Given the description of an element on the screen output the (x, y) to click on. 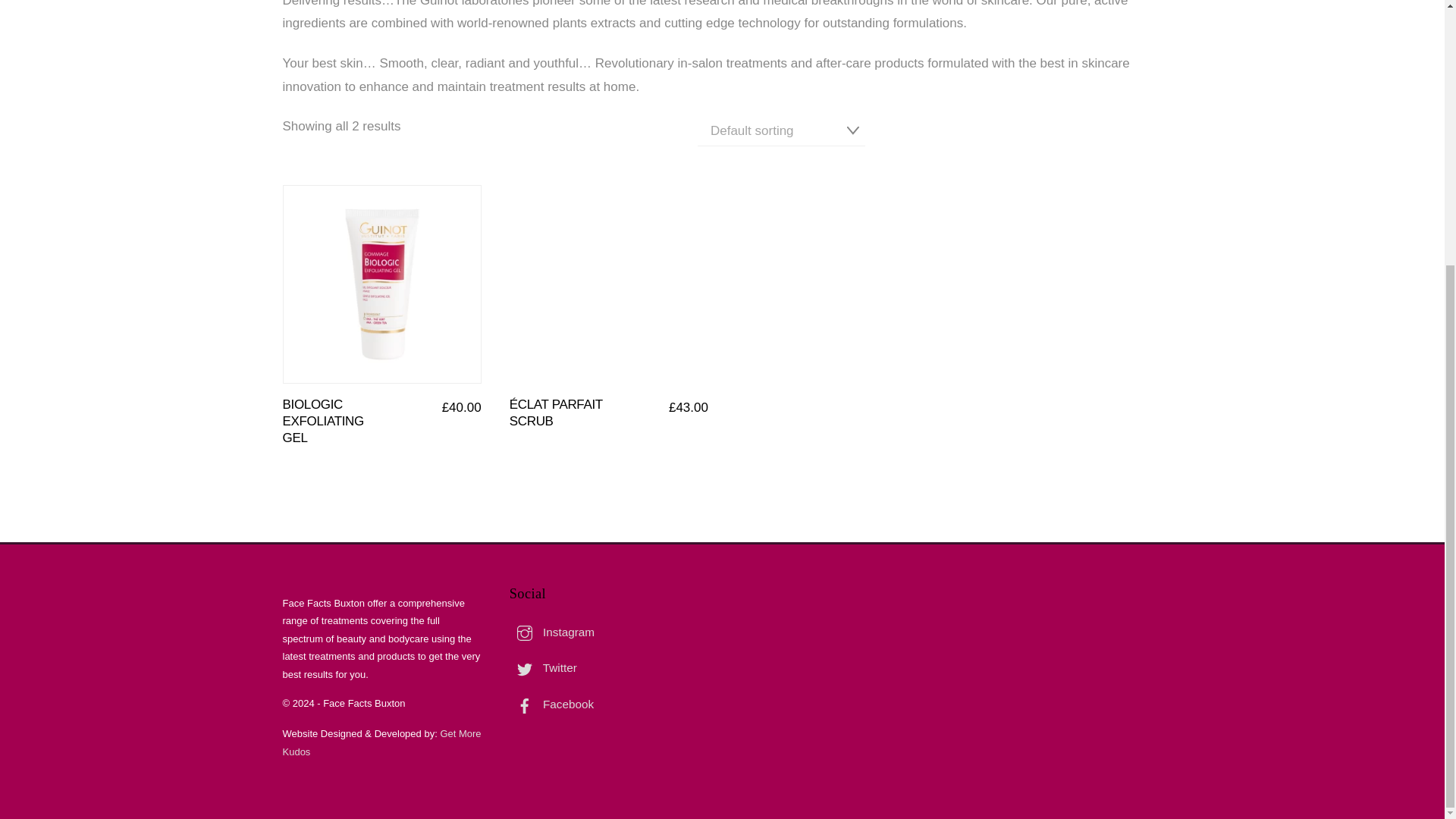
Get More Kudos (381, 742)
BIOLOGIC EXFOLIATING GEL (322, 421)
Instagram (551, 631)
Twitter (542, 667)
